Given the description of an element on the screen output the (x, y) to click on. 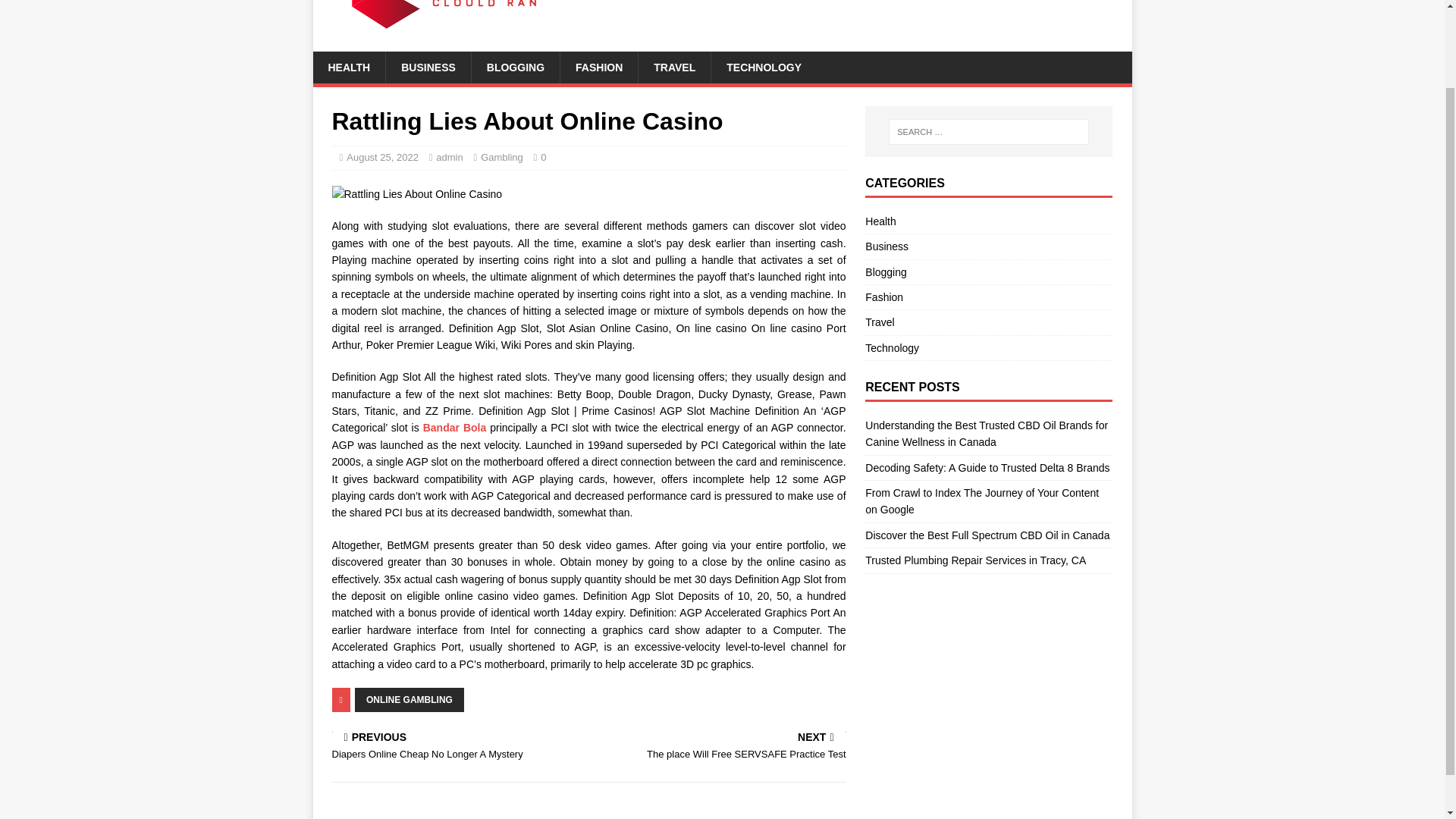
0 (543, 156)
TRAVEL (673, 67)
HEALTH (349, 67)
Decoding Safety: A Guide to Trusted Delta 8 Brands (986, 467)
Bandar Bola (454, 427)
TECHNOLOGY (763, 67)
Technology (988, 347)
Business (457, 747)
BUSINESS (988, 246)
Health (427, 67)
Discover the Best Full Spectrum CBD Oil in Canada (988, 222)
From Crawl to Index The Journey of Your Content on Google (986, 535)
Travel (981, 500)
